Given the description of an element on the screen output the (x, y) to click on. 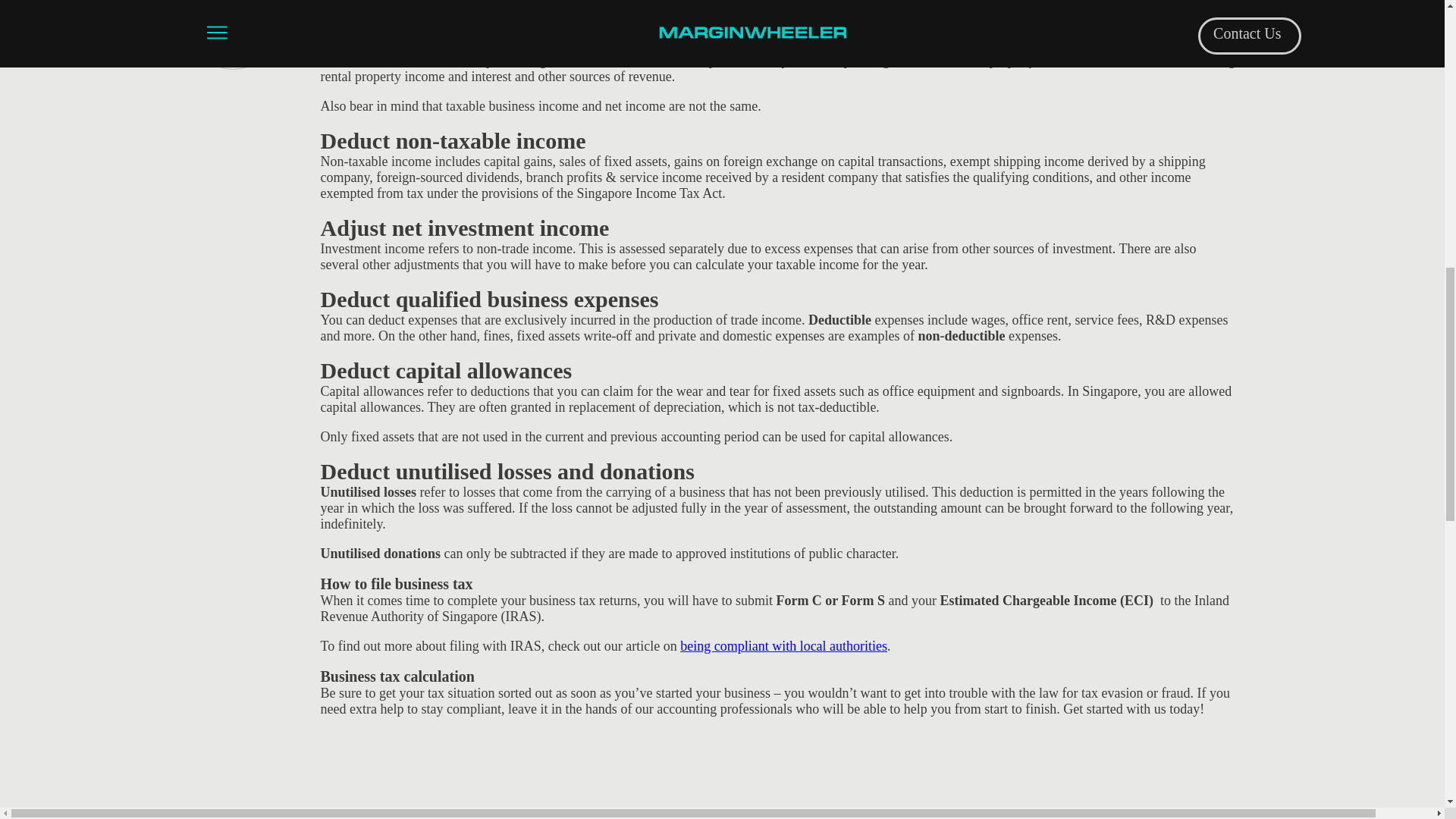
being compliant with local authorities (782, 645)
